Given the description of an element on the screen output the (x, y) to click on. 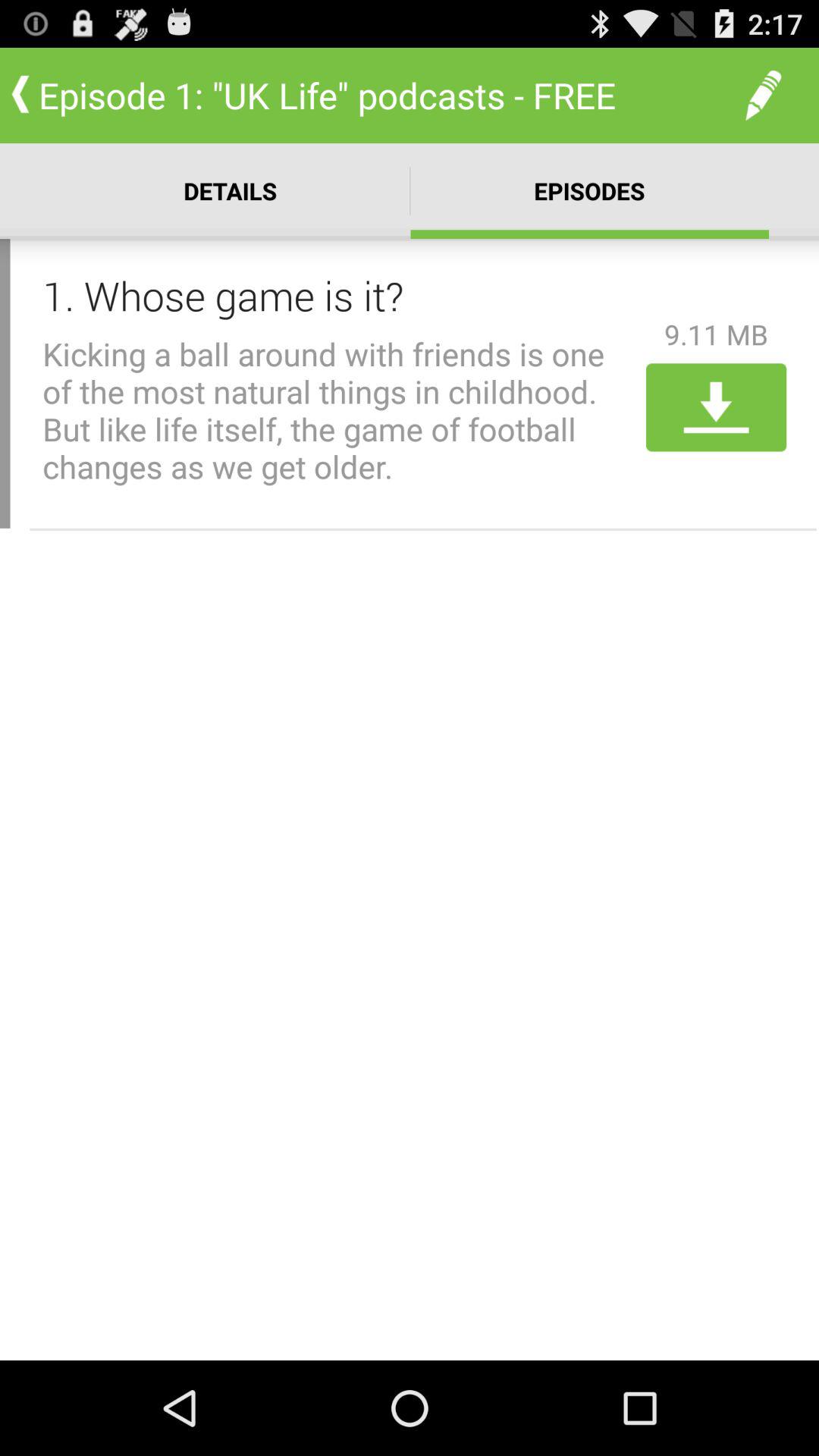
launch item below 9.11 mb item (716, 407)
